Given the description of an element on the screen output the (x, y) to click on. 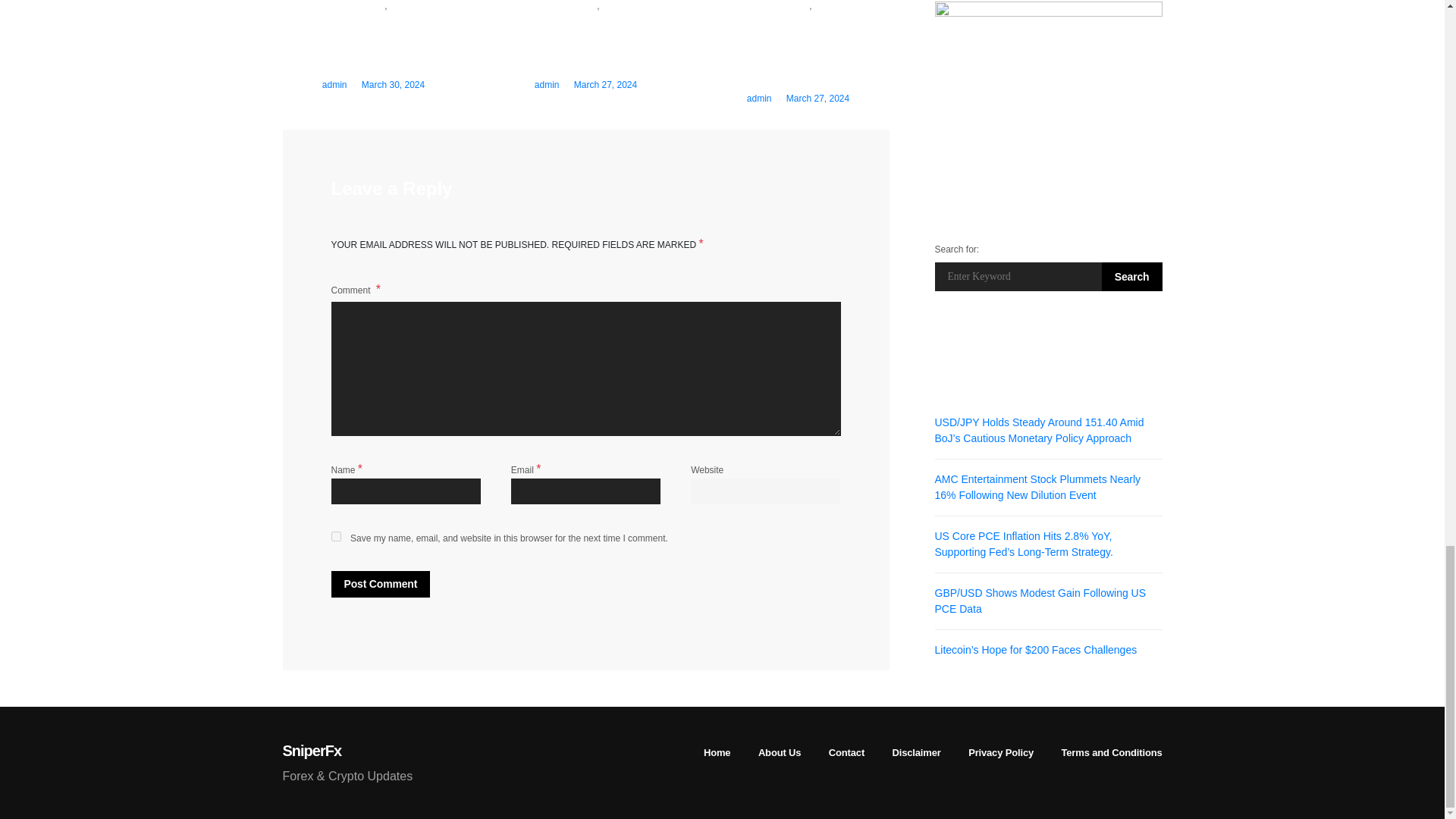
Post Comment (379, 583)
View all posts by admin (334, 84)
yes (335, 536)
View all posts by admin (758, 98)
View all posts by admin (546, 84)
